Given the description of an element on the screen output the (x, y) to click on. 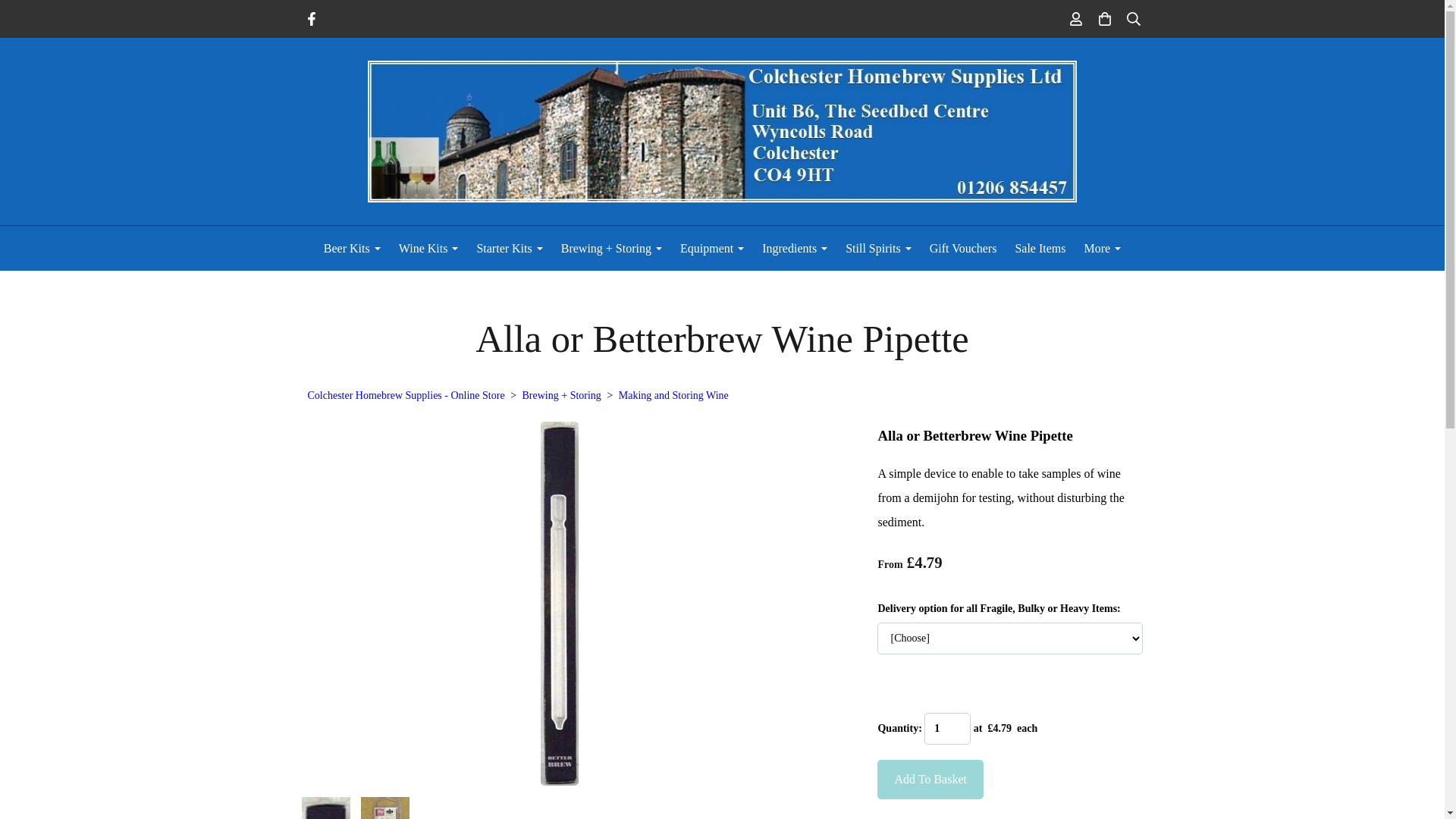
Delivery option for all Fragile, Bulky or Heavy Items (1009, 638)
1 (947, 728)
facebook (311, 20)
Beer Kits (352, 247)
